Given the description of an element on the screen output the (x, y) to click on. 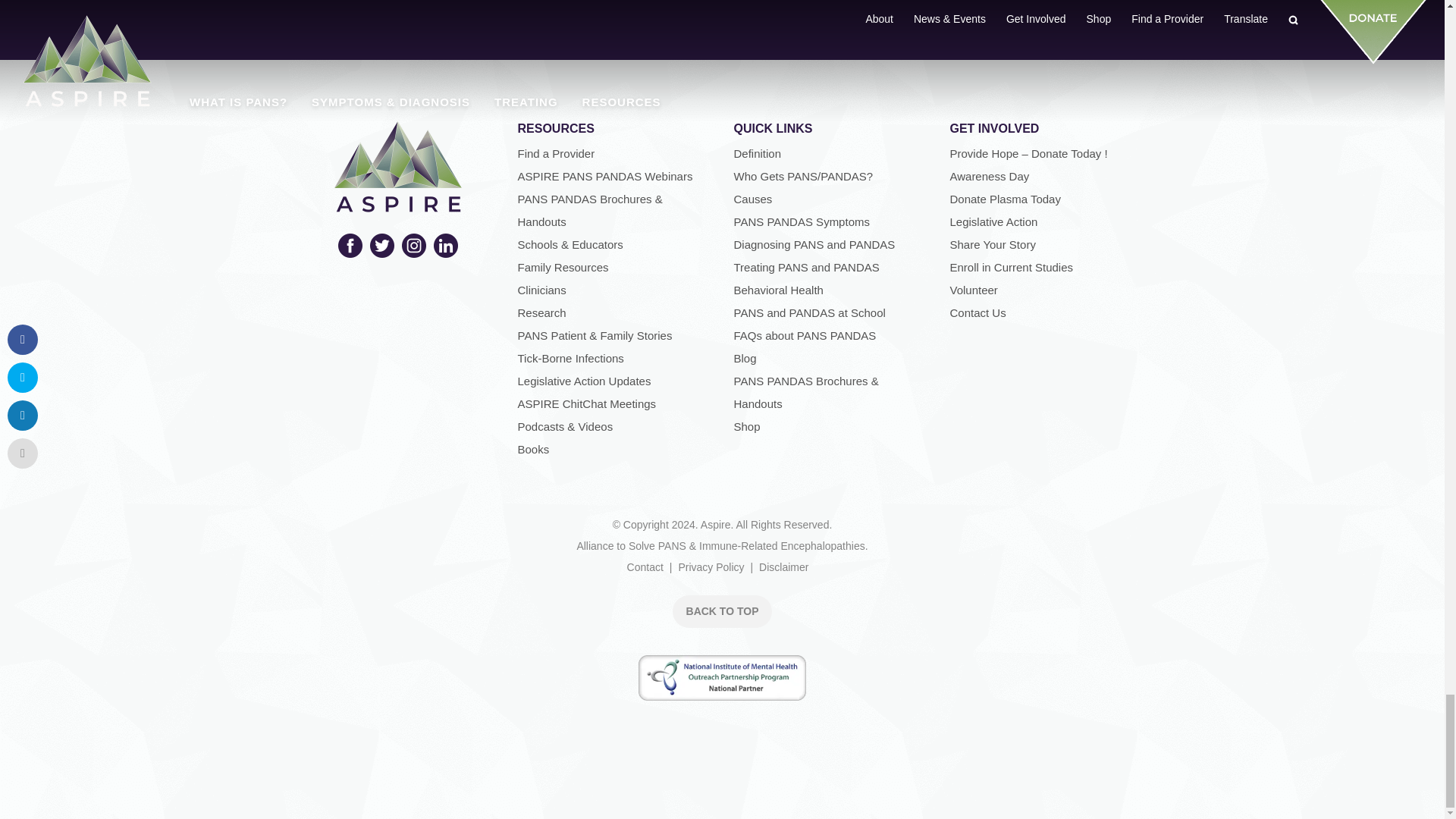
Aspire (398, 202)
